Given the description of an element on the screen output the (x, y) to click on. 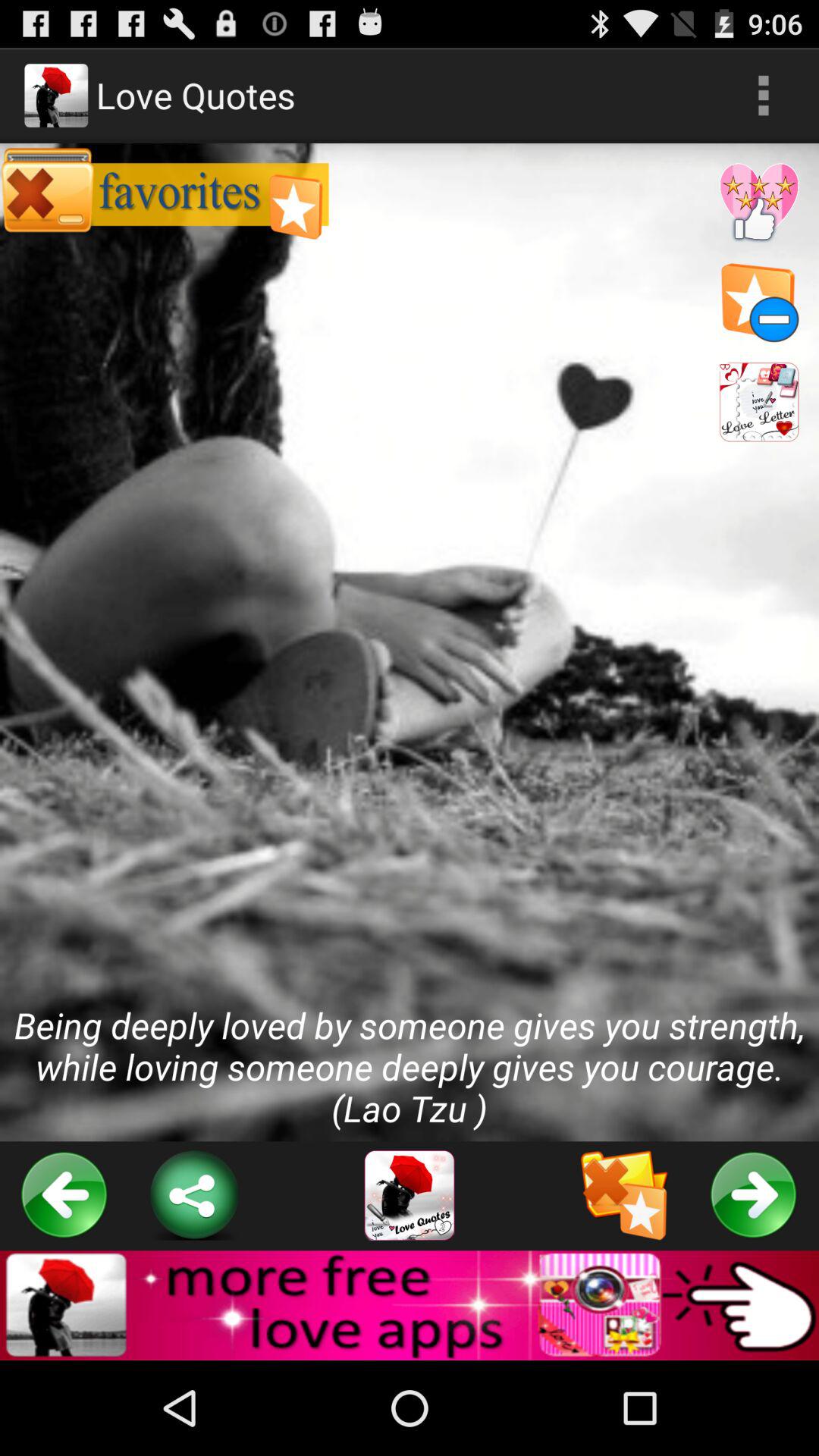
select being deeply loved at the center (409, 642)
